Given the description of an element on the screen output the (x, y) to click on. 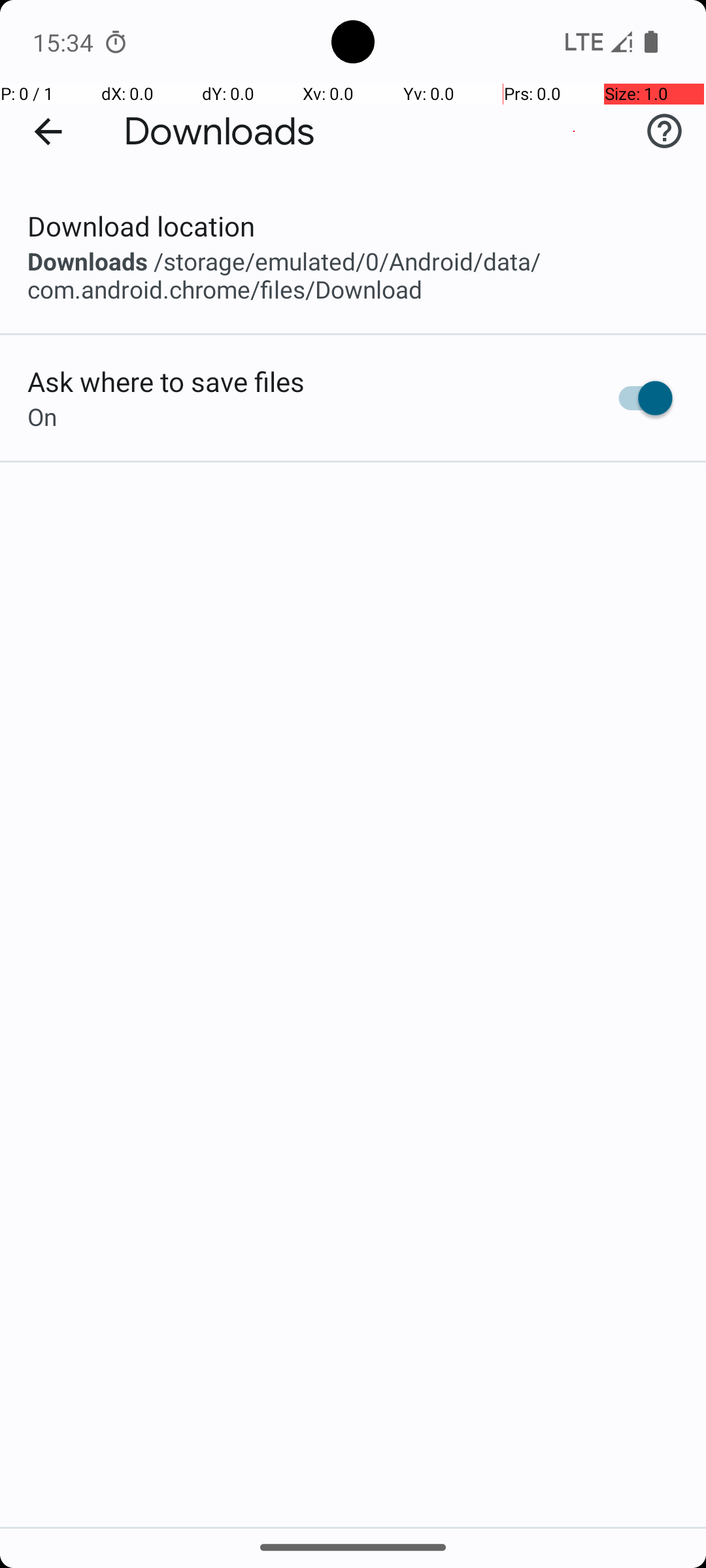
Download location Element type: android.widget.TextView (140, 225)
Downloads /storage/emulated/0/Android/data/com.android.chrome/files/Download Element type: android.widget.TextView (352, 274)
Ask where to save files Element type: android.widget.TextView (165, 380)
